Given the description of an element on the screen output the (x, y) to click on. 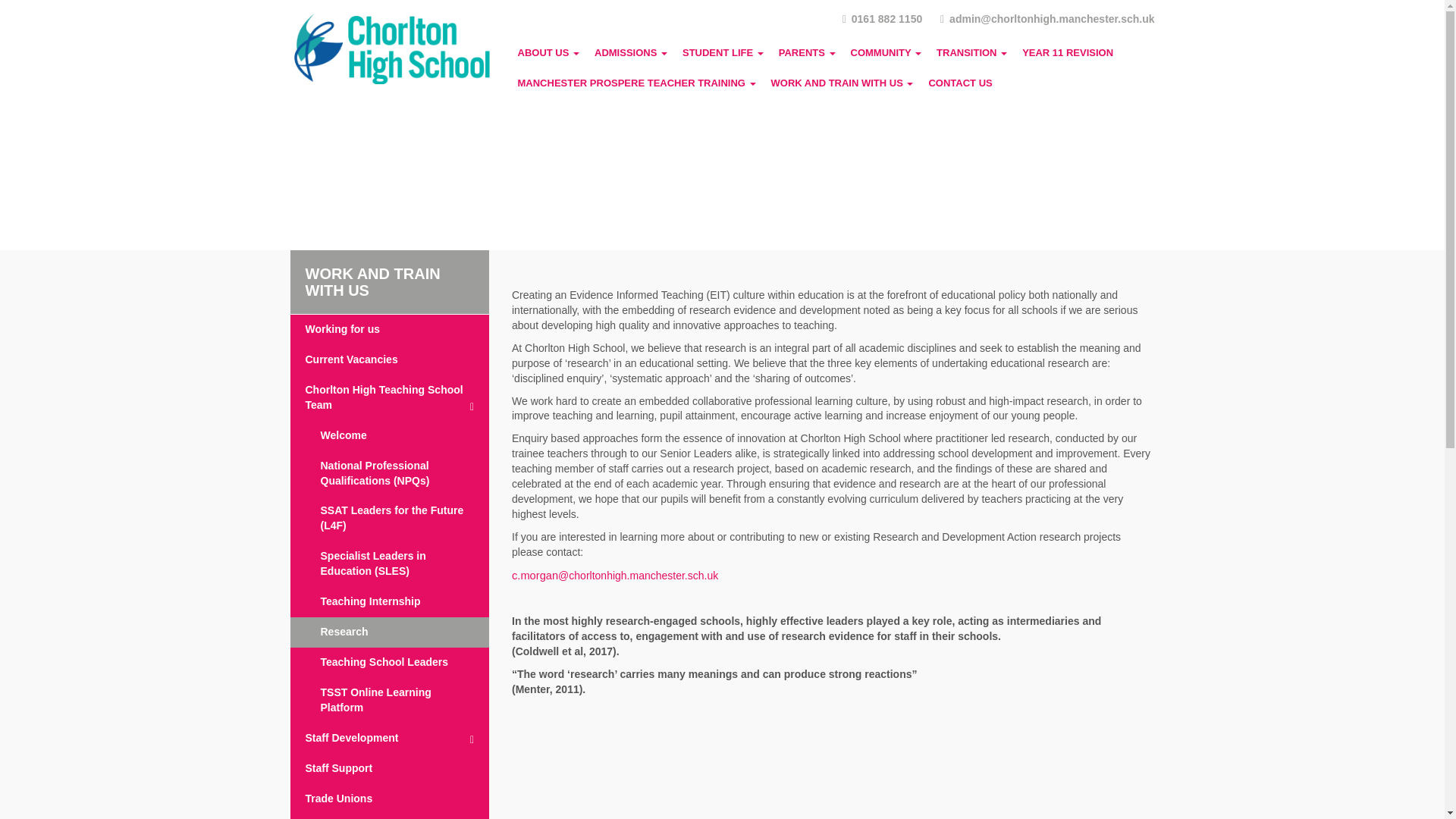
0161 882 1150 (882, 18)
ADMISSIONS (630, 52)
ABOUT US (547, 52)
STUDENT LIFE (723, 52)
